Given the description of an element on the screen output the (x, y) to click on. 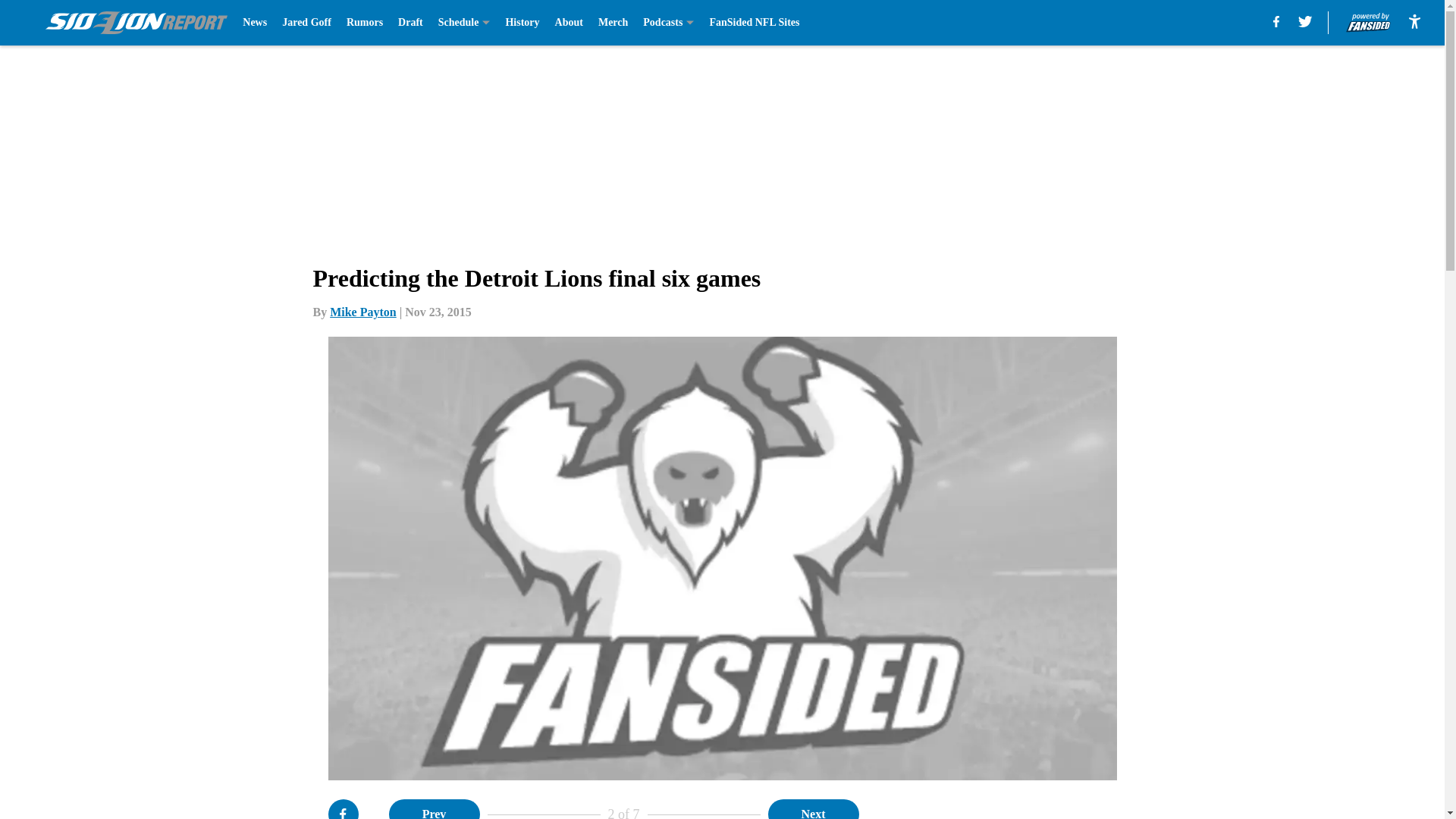
Mike Payton (363, 311)
History (521, 22)
News (254, 22)
FanSided NFL Sites (754, 22)
Prev (433, 809)
Jared Goff (306, 22)
Rumors (364, 22)
Merch (612, 22)
Draft (410, 22)
About (568, 22)
